Given the description of an element on the screen output the (x, y) to click on. 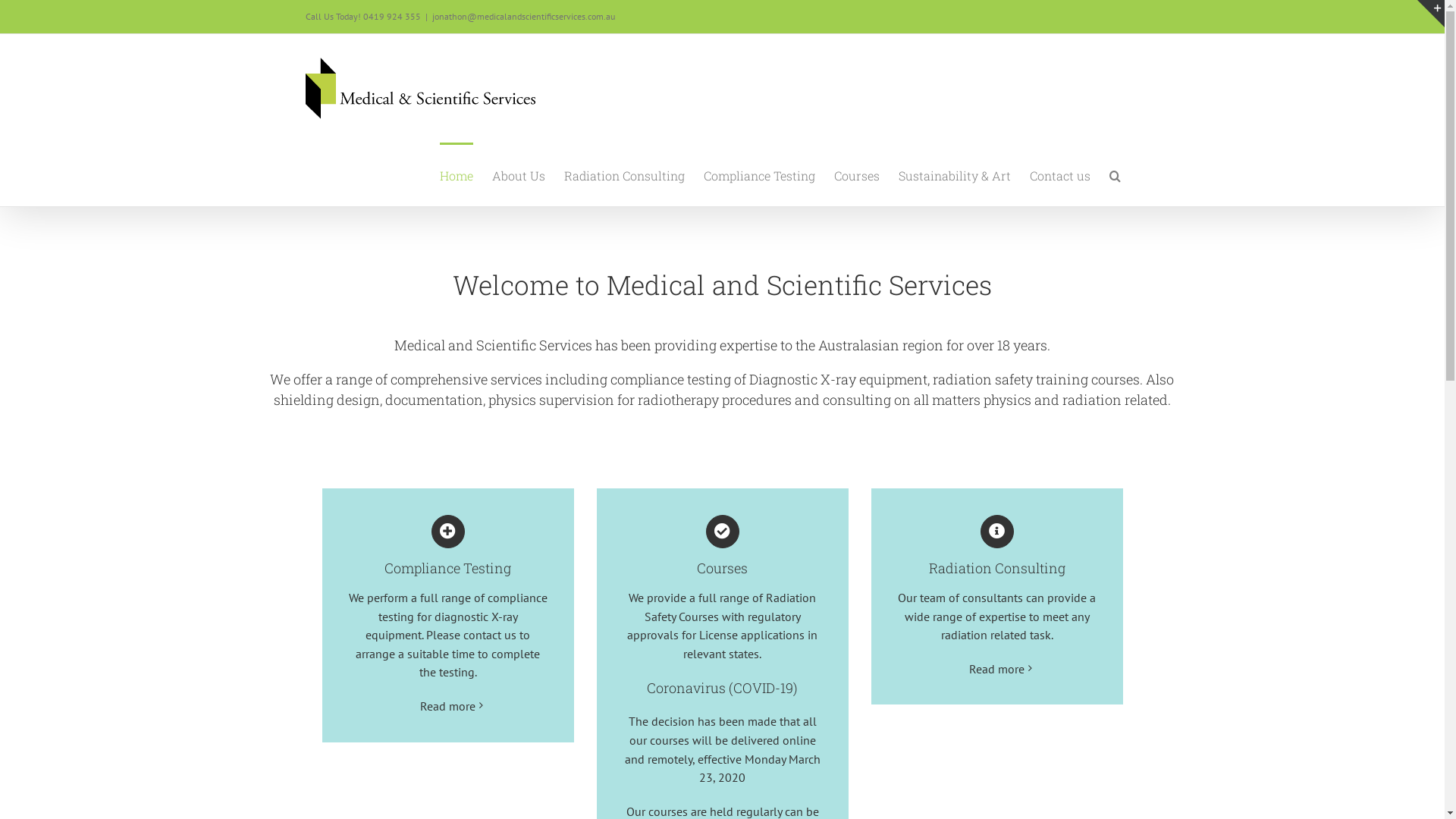
Read more Element type: text (996, 668)
Sustainability & Art Element type: text (953, 174)
Radiation Consulting Element type: text (996, 545)
Radiation Consulting Element type: text (624, 174)
Courses Element type: text (856, 174)
Compliance Testing Element type: text (447, 545)
About Us Element type: text (517, 174)
Compliance Testing Element type: text (759, 174)
Toggle Sliding Bar Area Element type: text (1430, 13)
Courses Element type: text (722, 545)
jonathon@medicalandscientificservices.com.au Element type: text (523, 15)
Home Element type: text (456, 174)
Search Element type: hover (1114, 174)
Read more Element type: text (447, 705)
Contact us Element type: text (1059, 174)
